Given the description of an element on the screen output the (x, y) to click on. 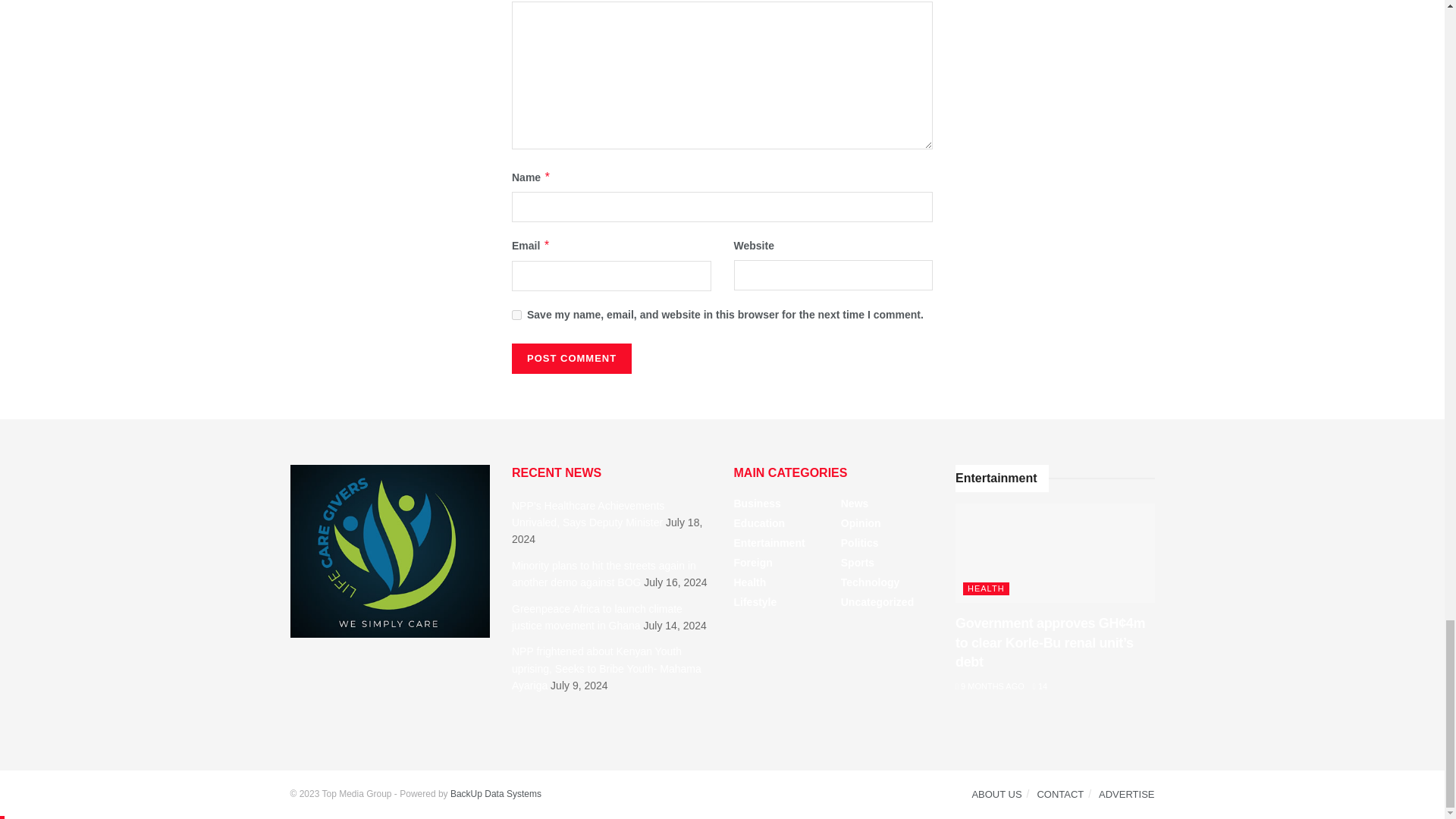
Post Comment (571, 358)
yes (516, 315)
